Given the description of an element on the screen output the (x, y) to click on. 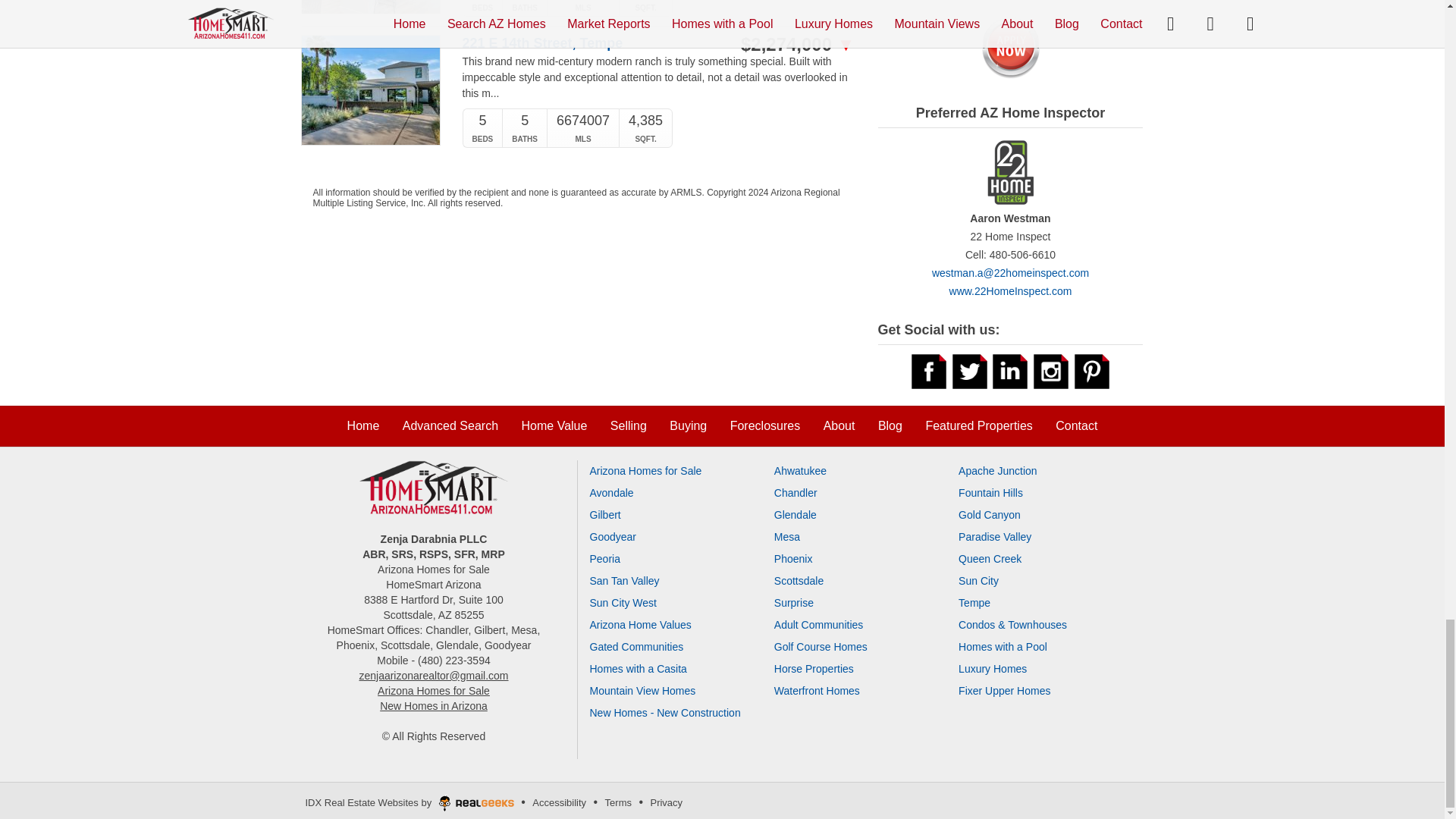
Email Aaron at 22 Home Inspect (1010, 272)
Apply for A Mortgage with Landmark Capital Mortgage (1010, 46)
Arizona Home Inspections (1010, 291)
Connect on Facebook (928, 370)
Arizona Home Inspections - 22 Home Inspect (1009, 180)
